Given the description of an element on the screen output the (x, y) to click on. 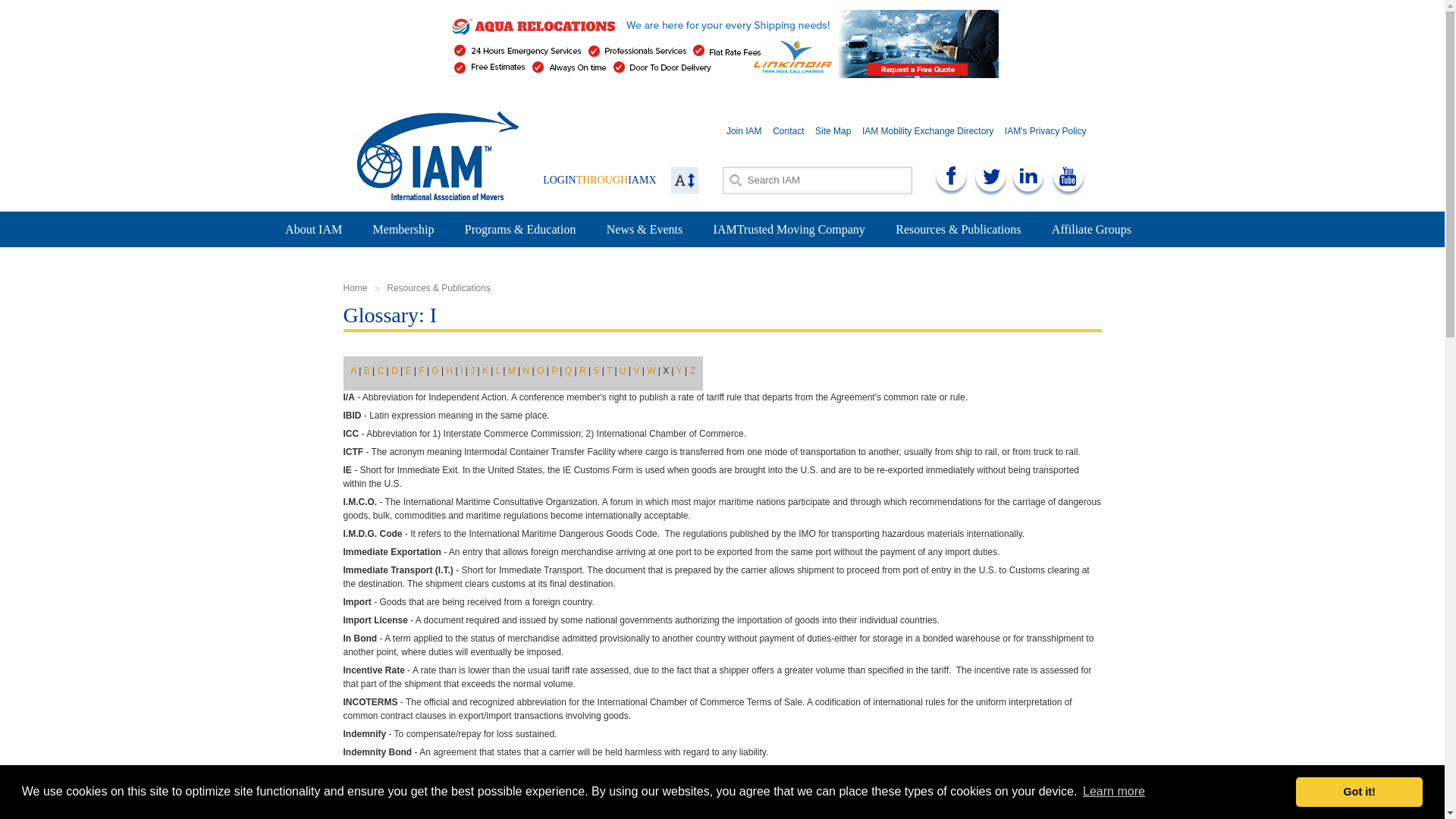
IAM on LinkedIn (1028, 176)
IAM on Twitter (990, 176)
IAM on Facebook (951, 176)
IAM on YouTube (1067, 176)
Change text size (683, 180)
Learn more (1113, 791)
Got it! (1358, 791)
